Given the description of an element on the screen output the (x, y) to click on. 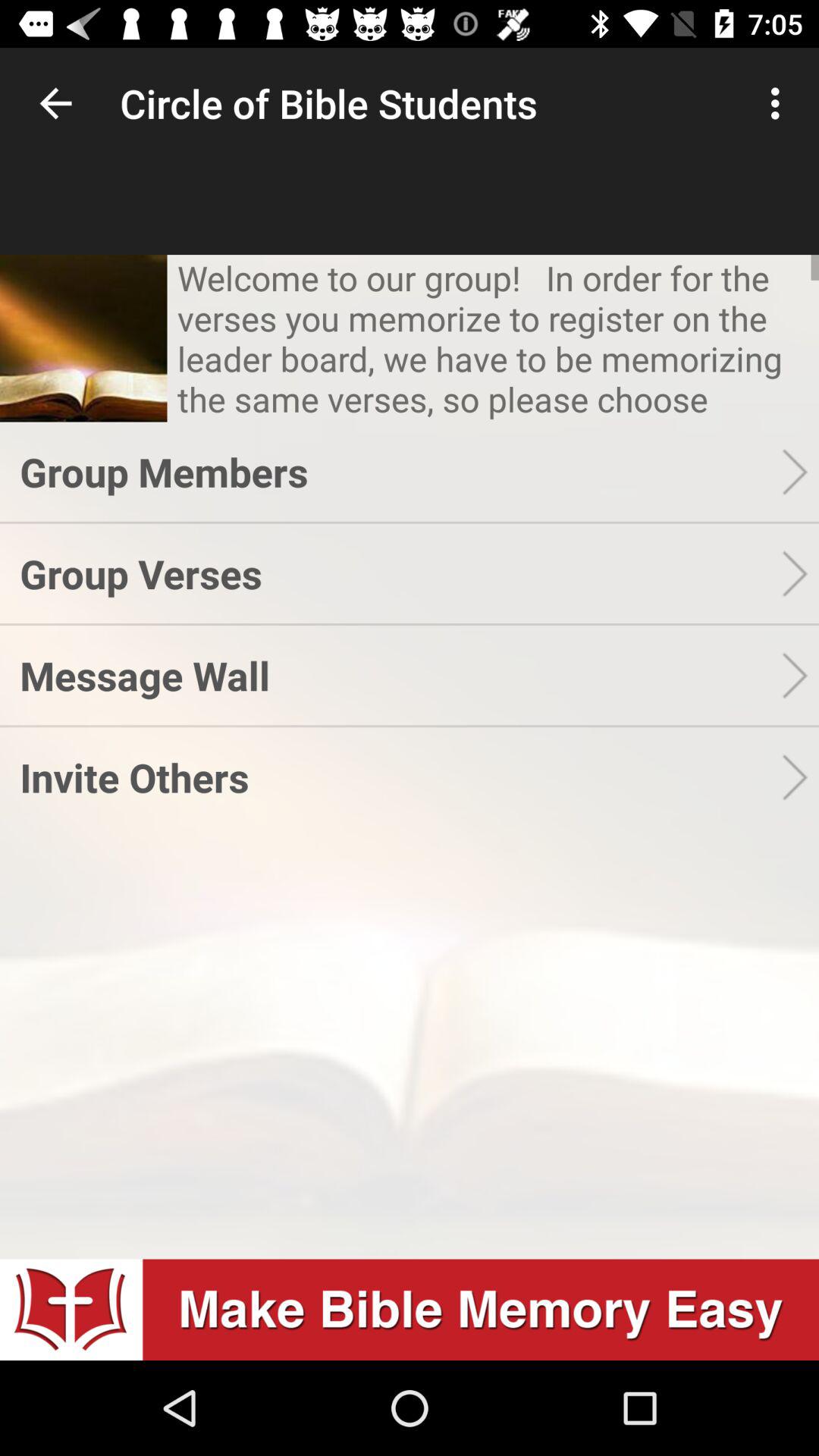
launch message wall (399, 675)
